Given the description of an element on the screen output the (x, y) to click on. 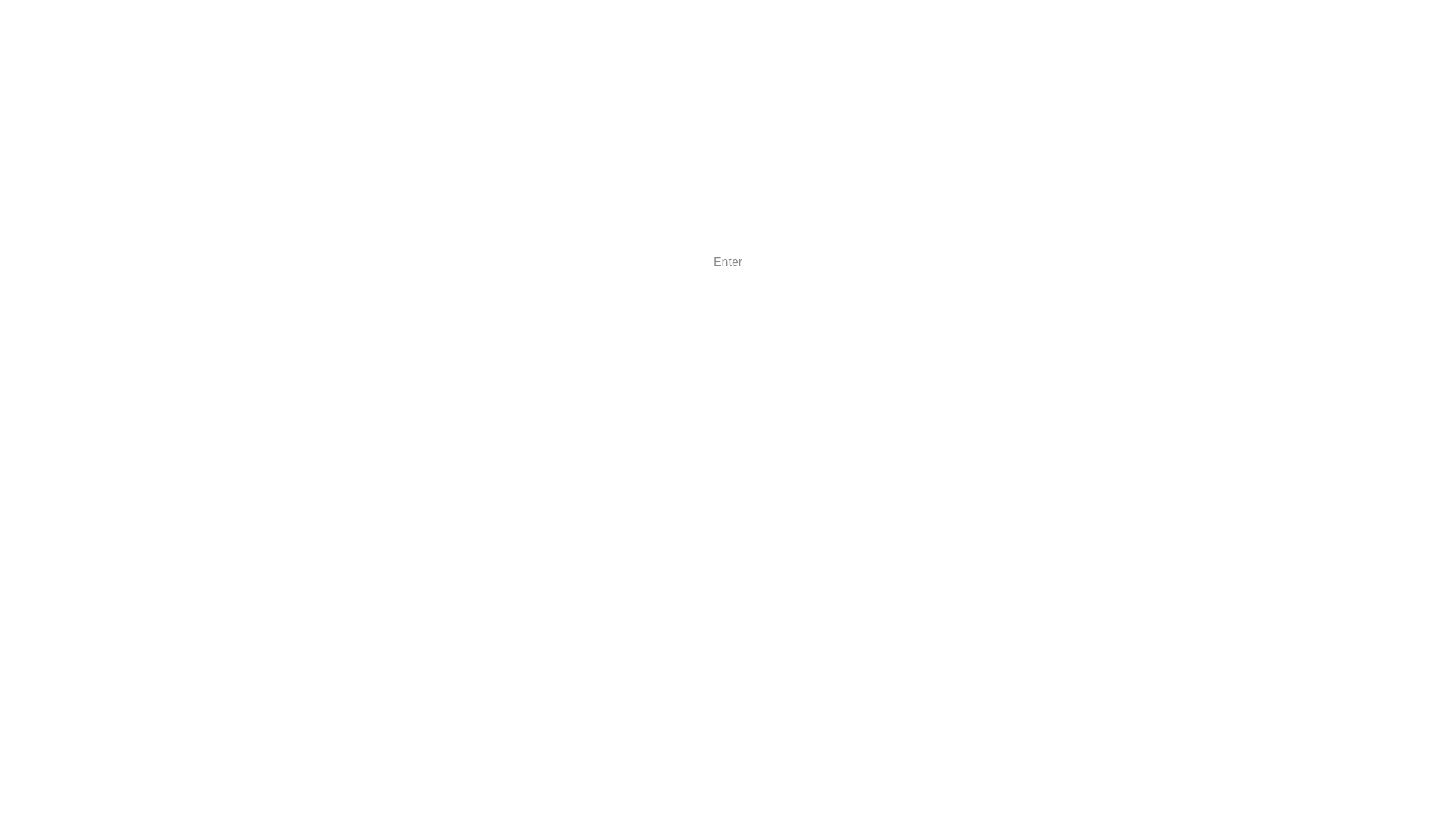
Enter Element type: text (727, 261)
